Given the description of an element on the screen output the (x, y) to click on. 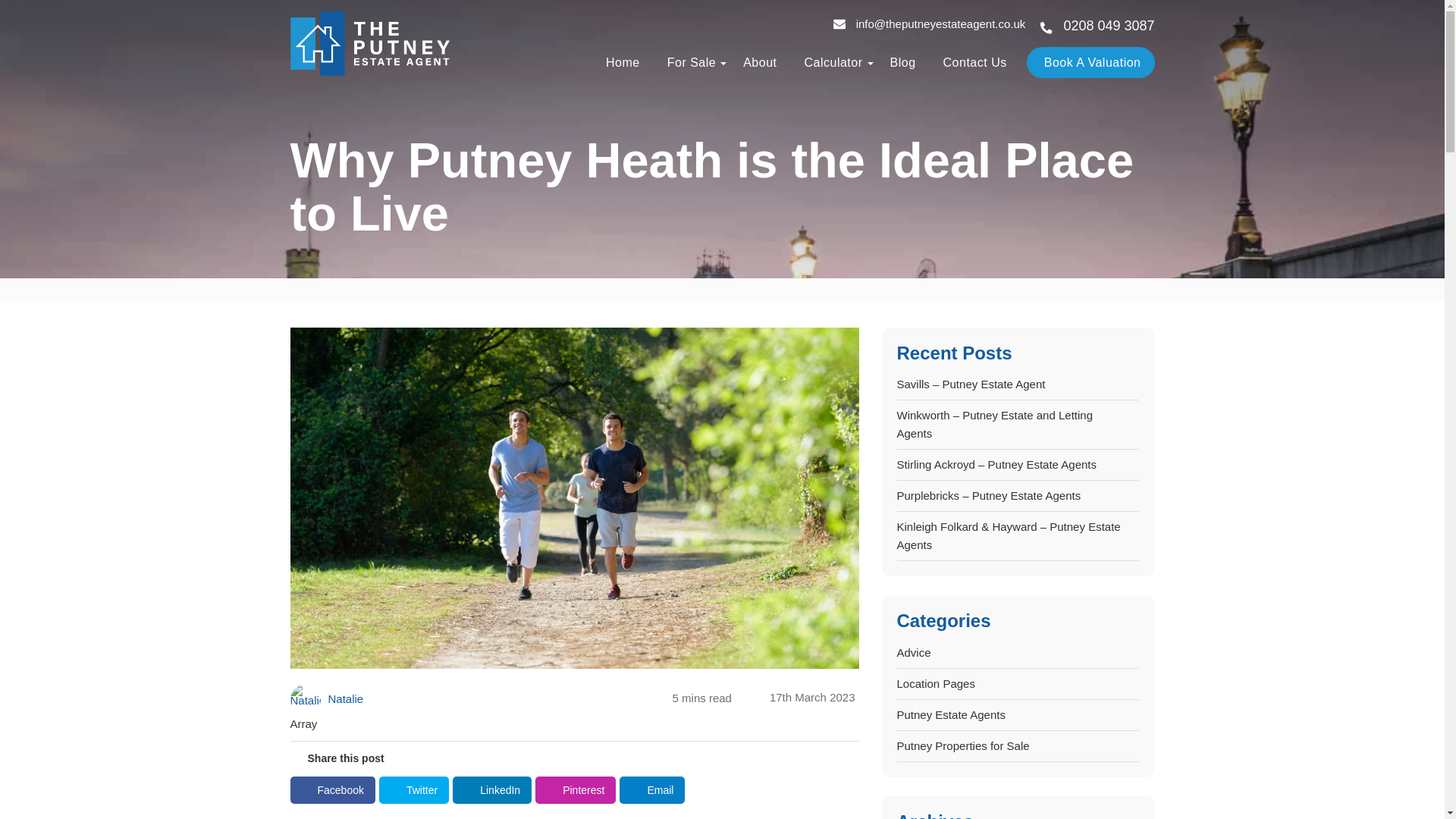
Home (618, 62)
0208 049 3087 (1097, 25)
Facebook (331, 790)
For Sale (686, 62)
Email (652, 790)
Calculator (827, 62)
Book A Valuation (1091, 62)
Natalie (325, 698)
Contact Us (969, 62)
Blog (897, 62)
